Given the description of an element on the screen output the (x, y) to click on. 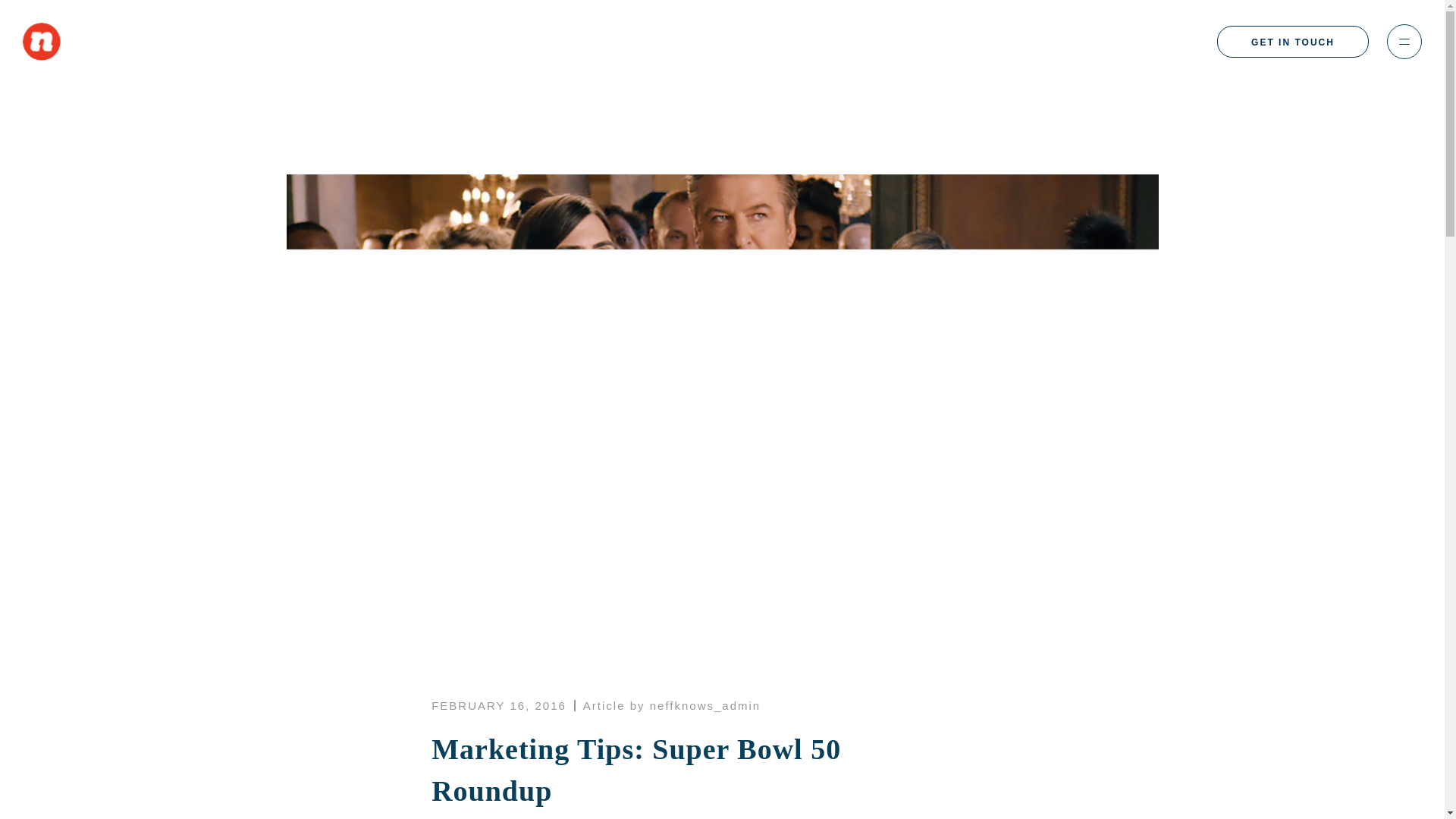
GET IN TOUCH (1292, 41)
